Given the description of an element on the screen output the (x, y) to click on. 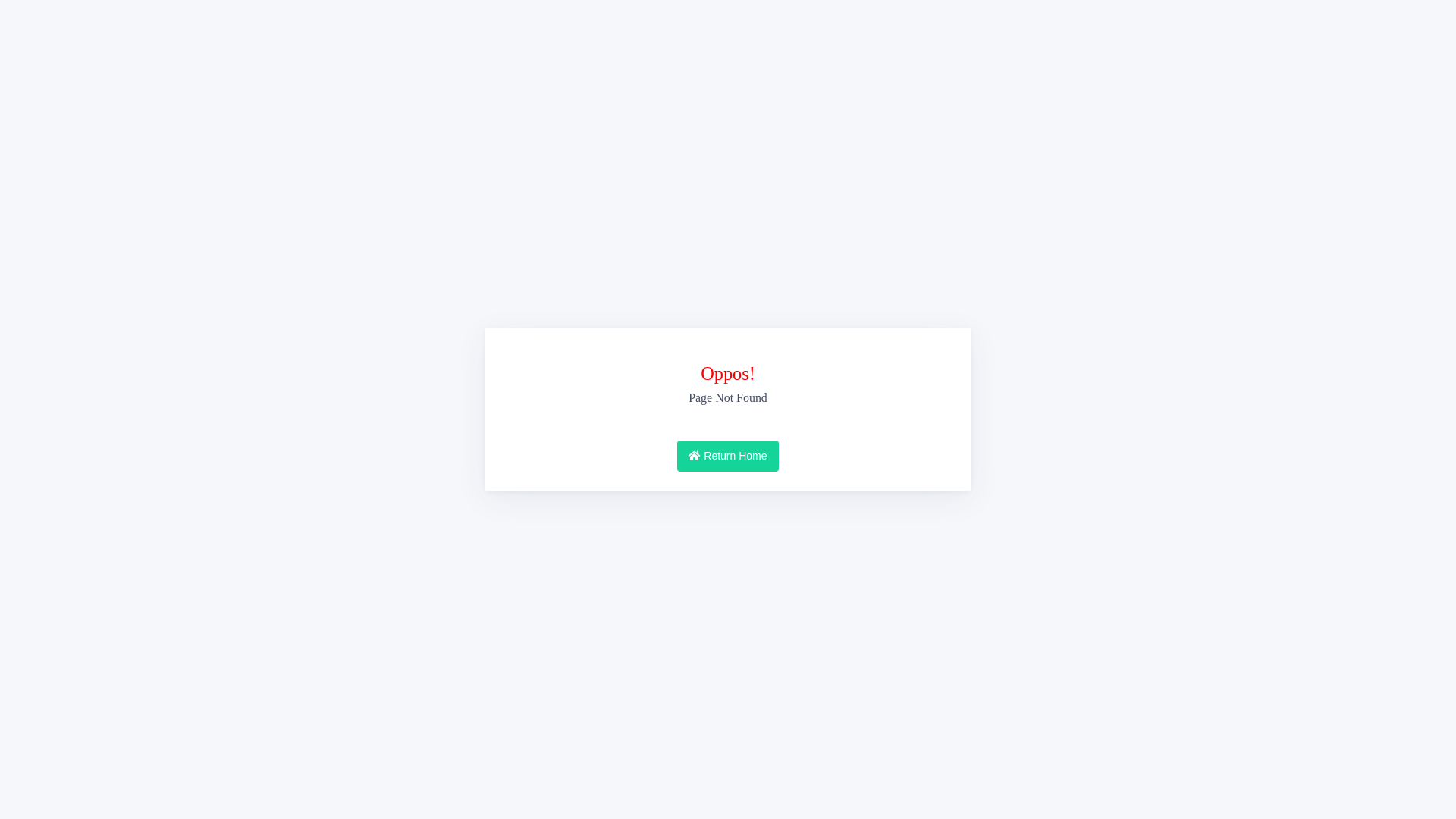
Return Home Element type: text (727, 455)
